Given the description of an element on the screen output the (x, y) to click on. 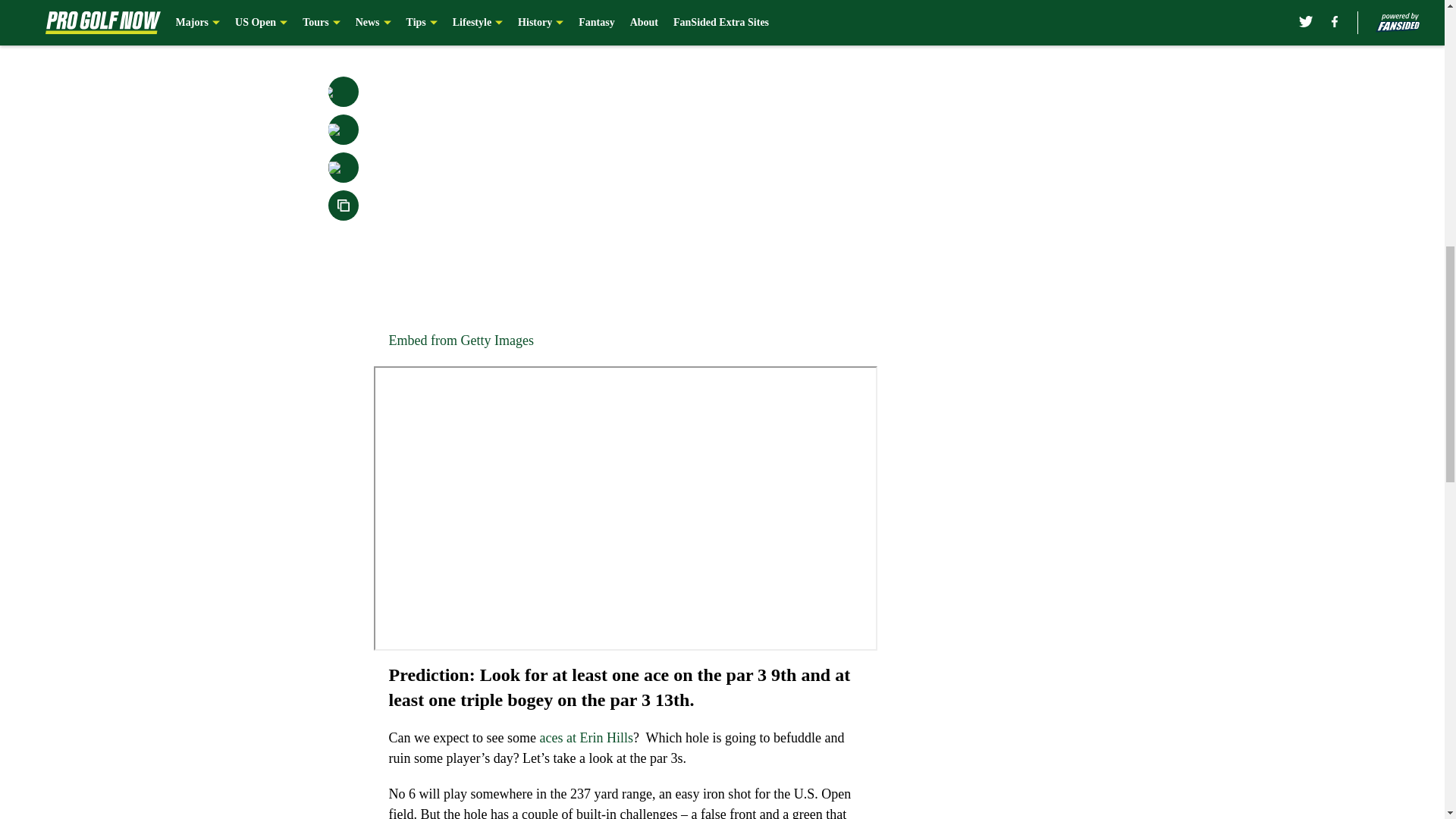
Prev (433, 20)
